Given the description of an element on the screen output the (x, y) to click on. 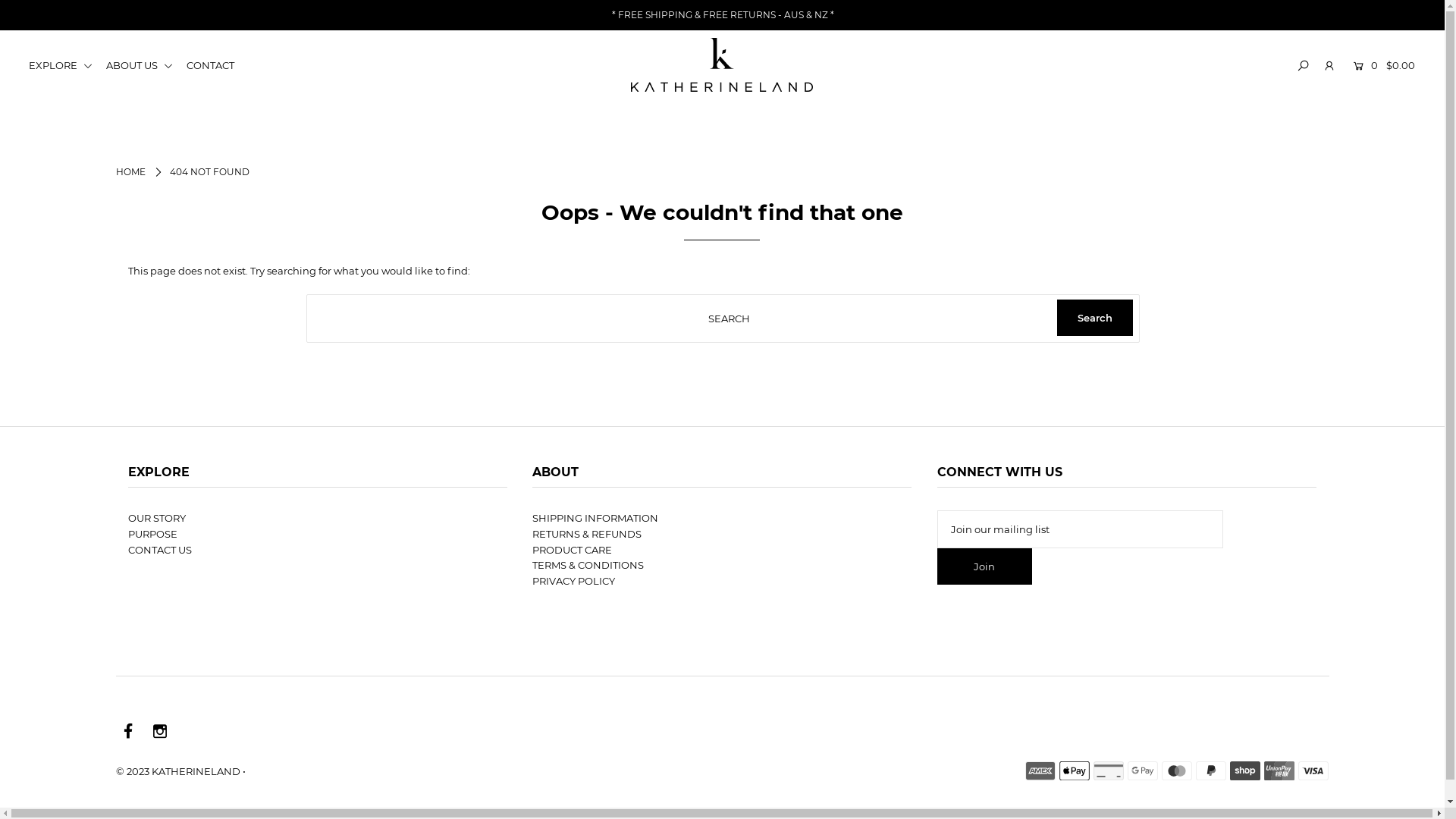
EXPLORE Element type: text (65, 65)
CONTACT US Element type: text (159, 549)
PURPOSE Element type: text (152, 533)
RETURNS & REFUNDS Element type: text (586, 533)
ABOUT US Element type: text (145, 65)
  0  $0.00 Element type: text (1382, 65)
HOME Element type: text (129, 171)
OUR STORY Element type: text (156, 517)
PRODUCT CARE Element type: text (571, 549)
Join Element type: text (984, 566)
TERMS & CONDITIONS Element type: text (587, 564)
SHIPPING INFORMATION Element type: text (595, 517)
CONTACT Element type: text (215, 65)
Search Element type: text (1094, 317)
PRIVACY POLICY Element type: text (573, 580)
